Given the description of an element on the screen output the (x, y) to click on. 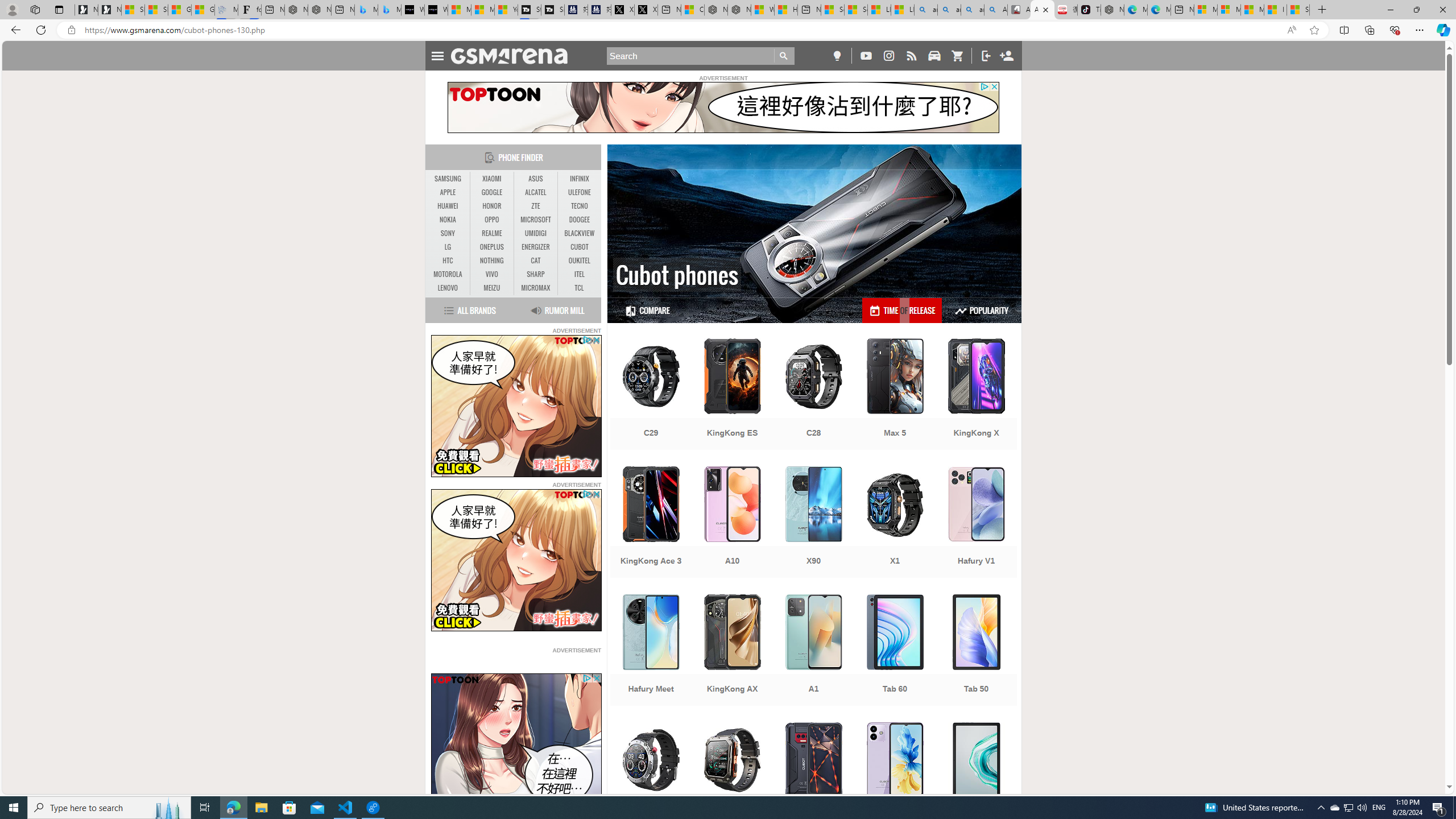
MICROSOFT (535, 219)
APPLE (448, 192)
HTC (448, 260)
A10 (732, 523)
Nordace - Best Sellers (1112, 9)
X1 (895, 523)
Amazon Echo Robot - Search Images (995, 9)
BLACKVIEW (579, 233)
ONEPLUS (491, 246)
ASUS (535, 178)
KingKong X (976, 395)
